Given the description of an element on the screen output the (x, y) to click on. 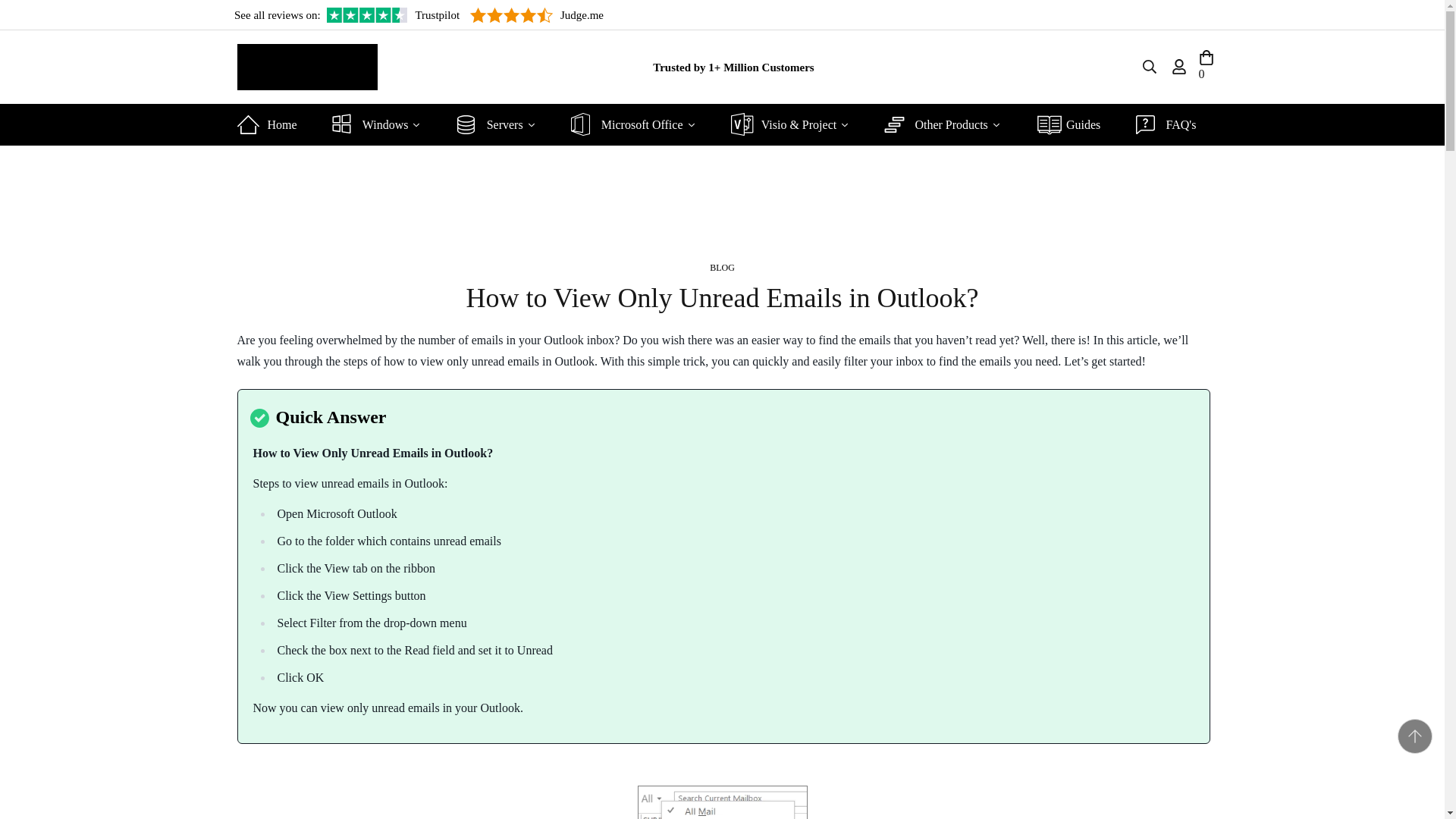
FAQ's (1171, 124)
Windows (381, 124)
Microsoft Office (638, 124)
Guides (1073, 124)
Microsoft Office (638, 124)
Servers (502, 124)
Servers (502, 124)
Guides (1073, 124)
Judge.me (537, 14)
Other Products (947, 124)
Windows (381, 124)
FAQ's (1171, 124)
keysdirect.us (306, 66)
Home (271, 124)
